Given the description of an element on the screen output the (x, y) to click on. 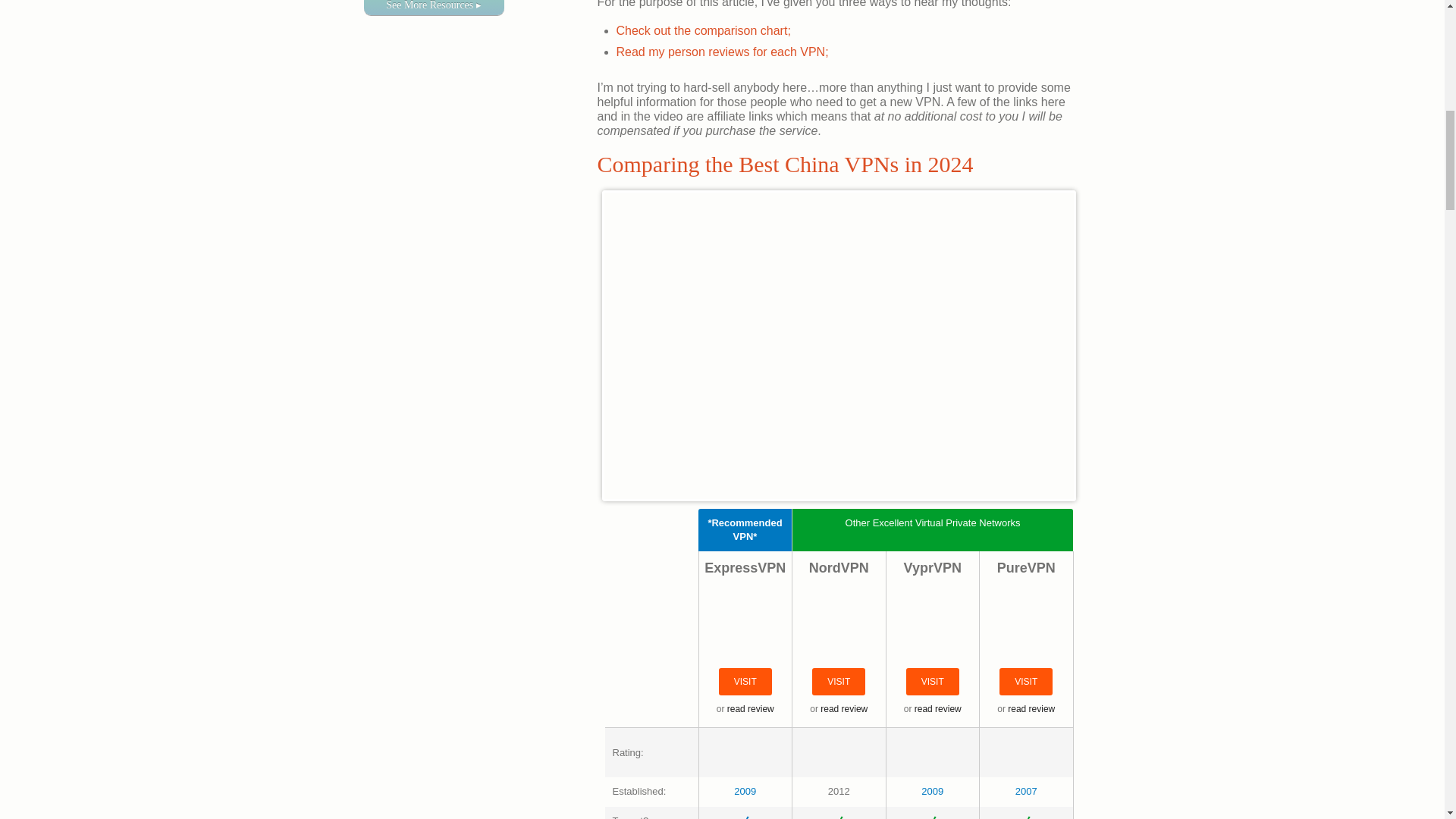
Check out the comparison chart; (702, 30)
Read my person reviews for each VPN; (721, 51)
VISIT (932, 682)
read review (937, 708)
VISIT (745, 682)
read review (1030, 708)
read review (750, 708)
VISIT (838, 682)
read review (844, 708)
VISIT (1025, 682)
